Given the description of an element on the screen output the (x, y) to click on. 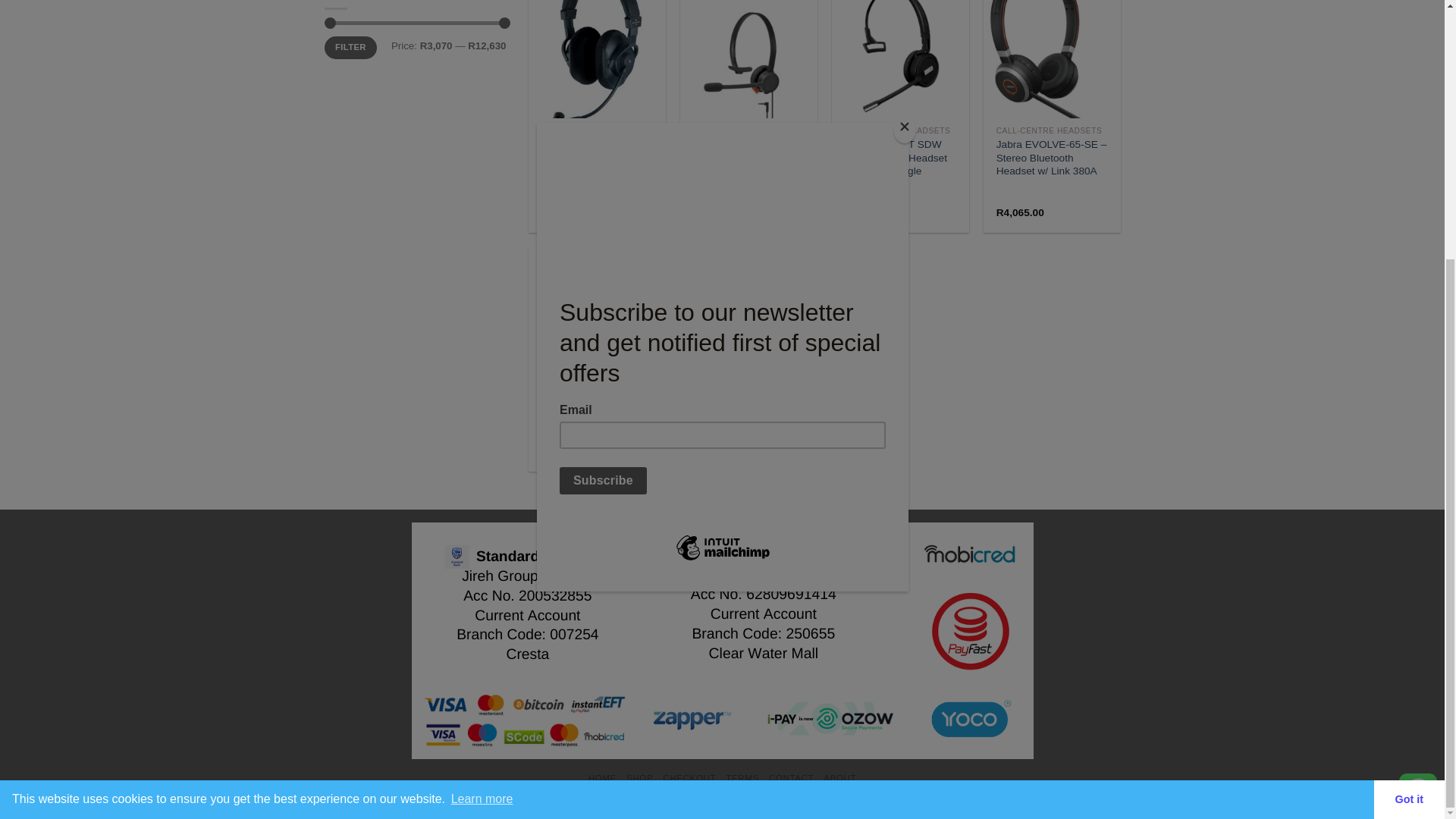
FILTER (350, 47)
